Given the description of an element on the screen output the (x, y) to click on. 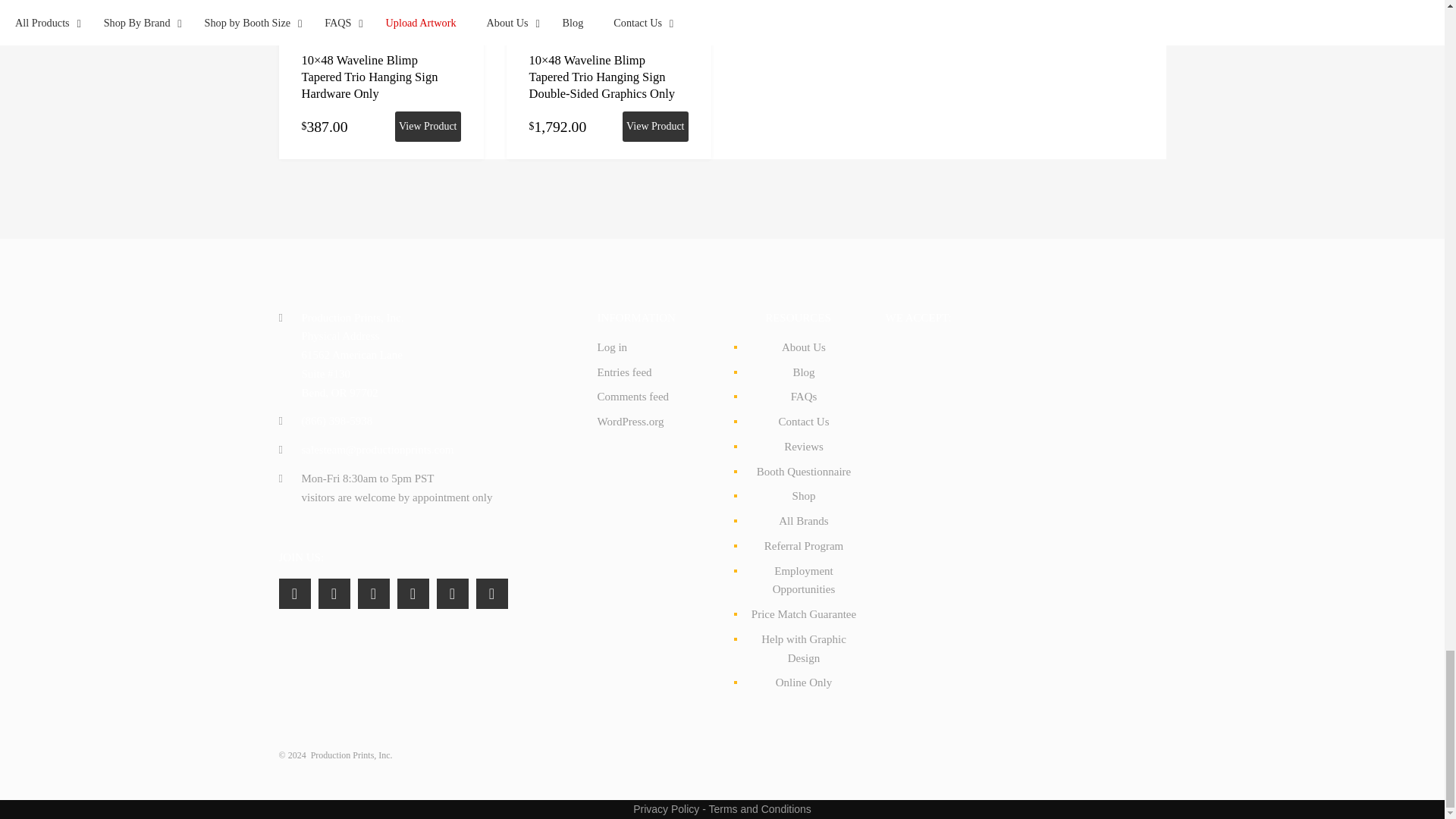
Connect us (413, 593)
Connect us (295, 593)
Connect us (374, 593)
Connect us (492, 593)
Email us (377, 449)
Connect us (334, 593)
Connect us (452, 593)
